Given the description of an element on the screen output the (x, y) to click on. 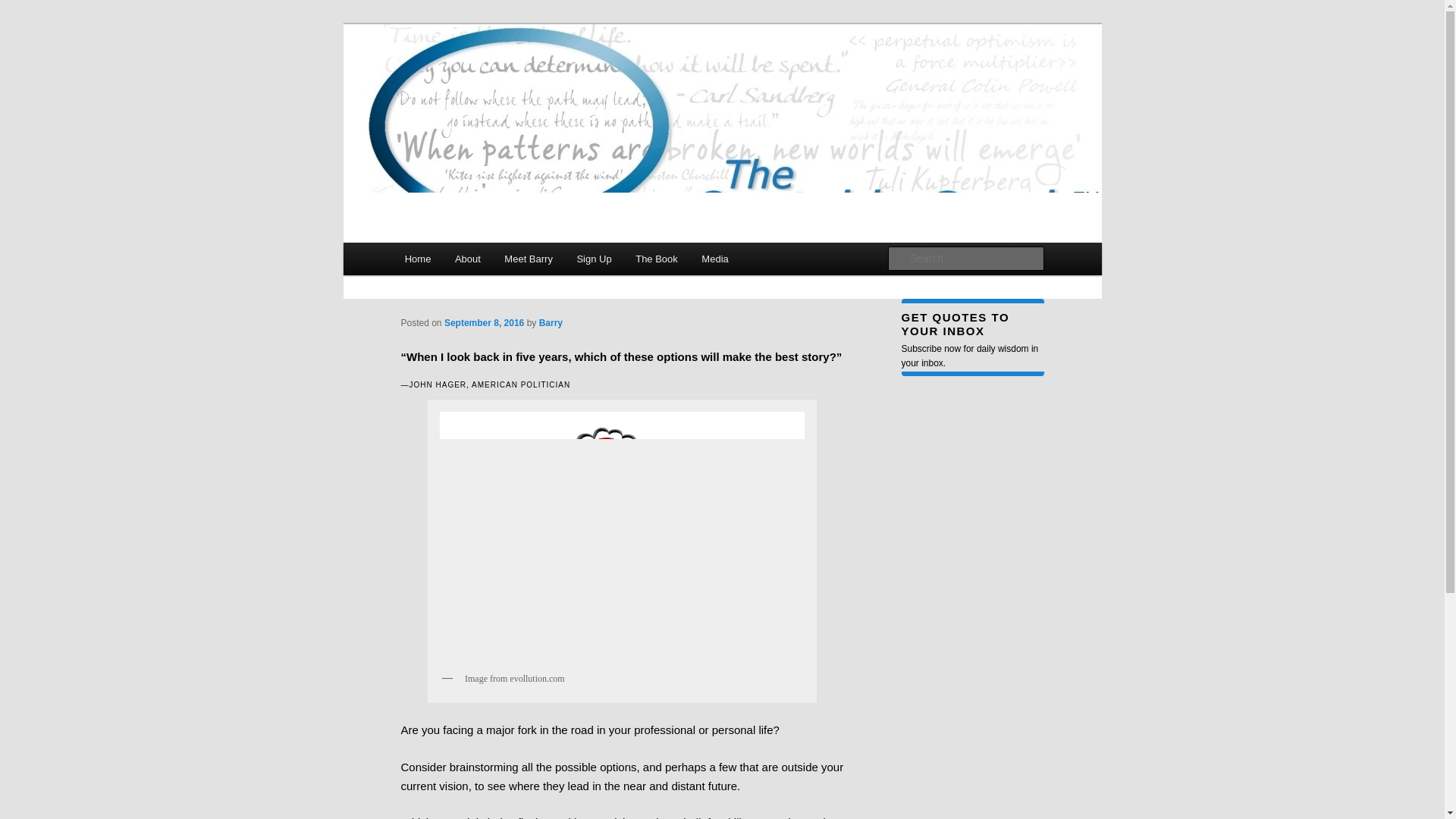
Barry (550, 321)
The Book (655, 258)
6:00 am (484, 321)
September 8, 2016 (484, 321)
Search (24, 8)
Media (715, 258)
Meet Barry (528, 258)
About (467, 258)
View all posts by Barry (550, 321)
